Given the description of an element on the screen output the (x, y) to click on. 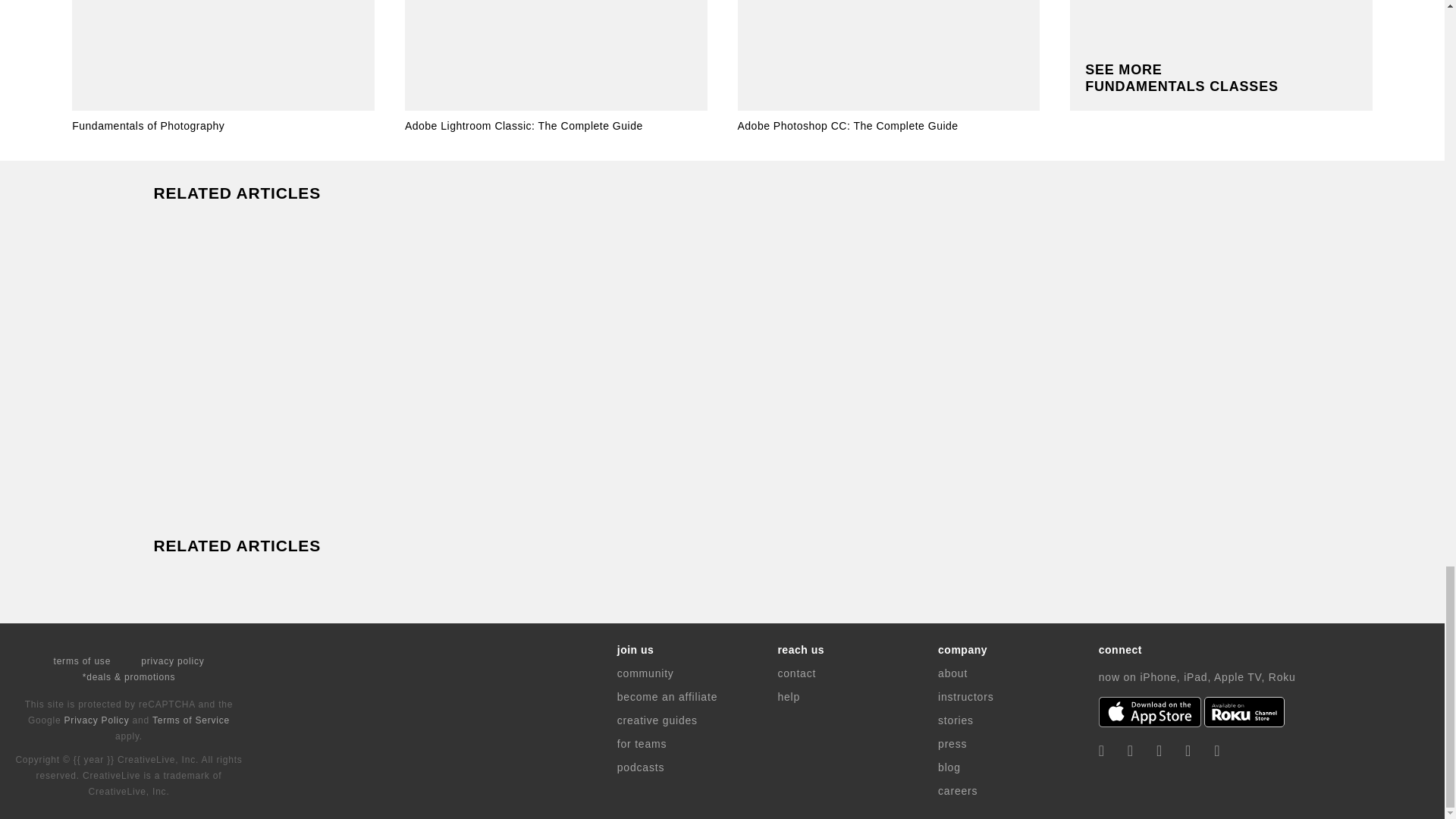
CreativeLive on Twitter (1130, 750)
CreativeLive on Facebook (1102, 750)
CreativeLive on Youtube (1217, 750)
CreativeLive on Instagram (1158, 750)
CreativeLive on Pinterest (1188, 750)
